Given the description of an element on the screen output the (x, y) to click on. 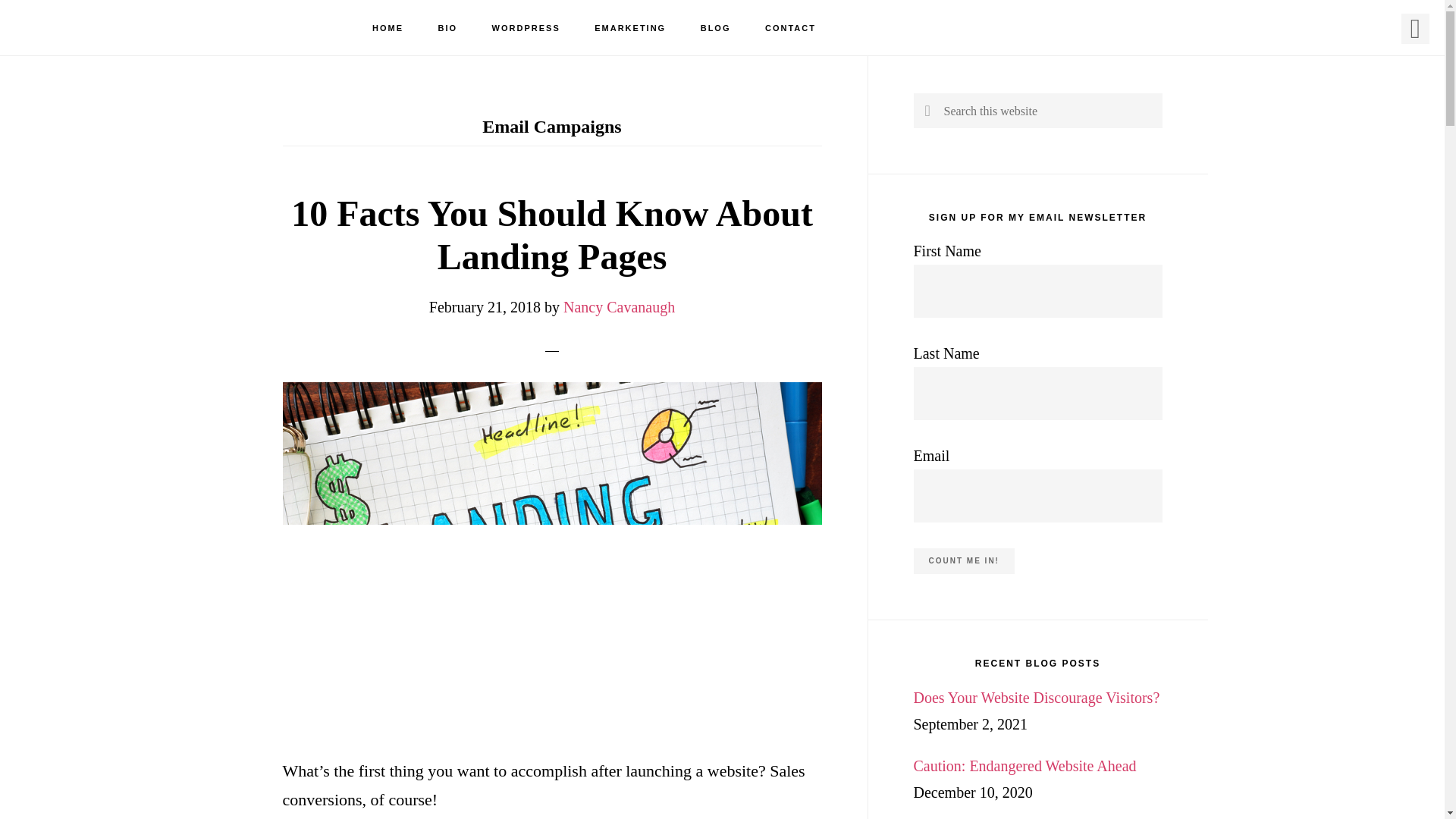
HOME (387, 28)
BIO (448, 28)
10 Facts You Should Know About Landing Pages (551, 235)
Count me in! (962, 560)
CONTACT (790, 28)
SHOW OFFSCREEN CONTENT (1414, 28)
EMARKETING (630, 28)
Nancy Cavanaugh (619, 306)
Count me in! (962, 560)
